Given the description of an element on the screen output the (x, y) to click on. 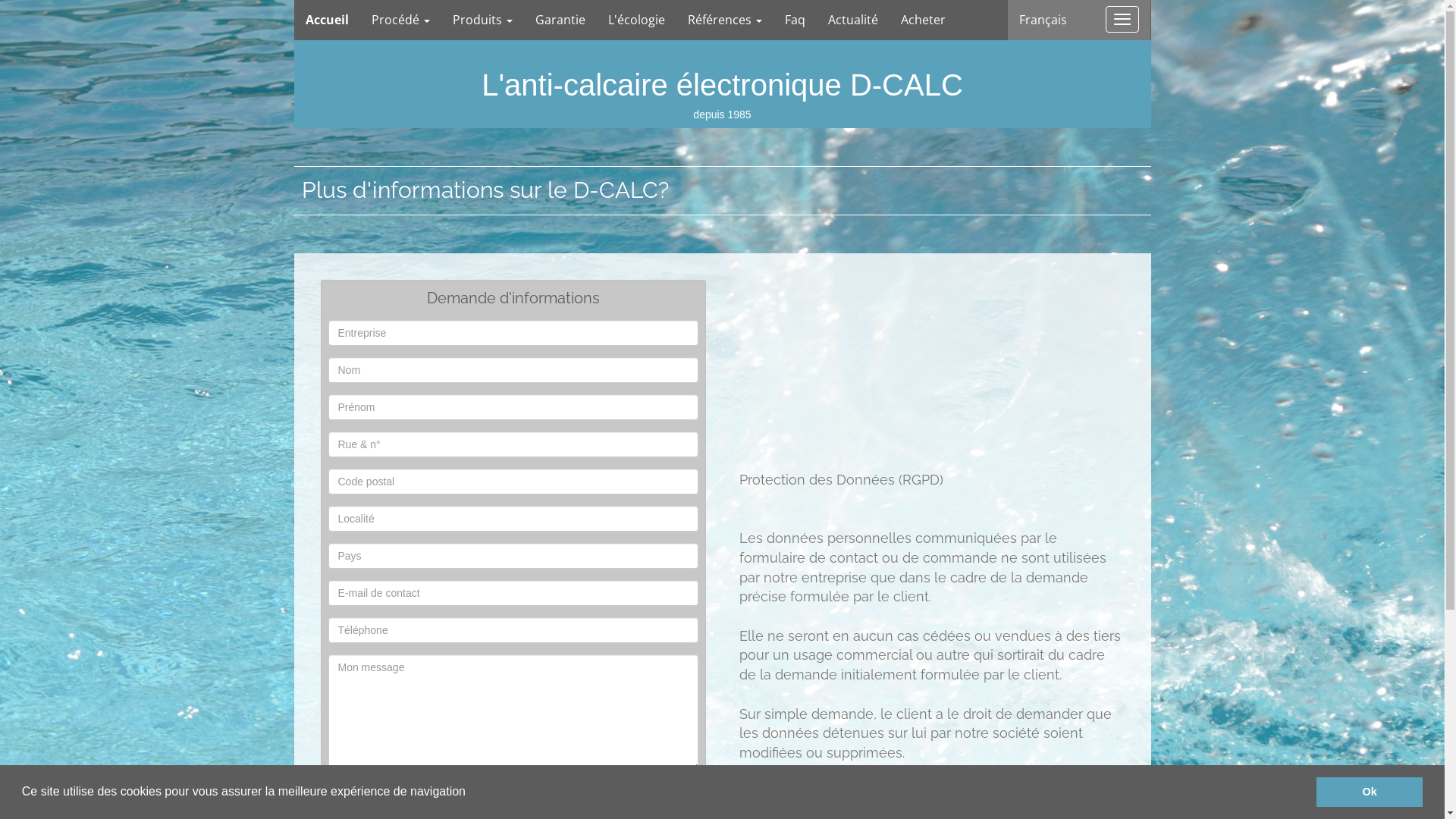
Produits Element type: text (482, 20)
Ok Element type: text (1369, 791)
Envoyer Element type: text (512, 795)
Acheter Element type: text (922, 20)
Garantie Element type: text (559, 20)
Faq Element type: text (794, 20)
Accueil Element type: text (327, 20)
